Given the description of an element on the screen output the (x, y) to click on. 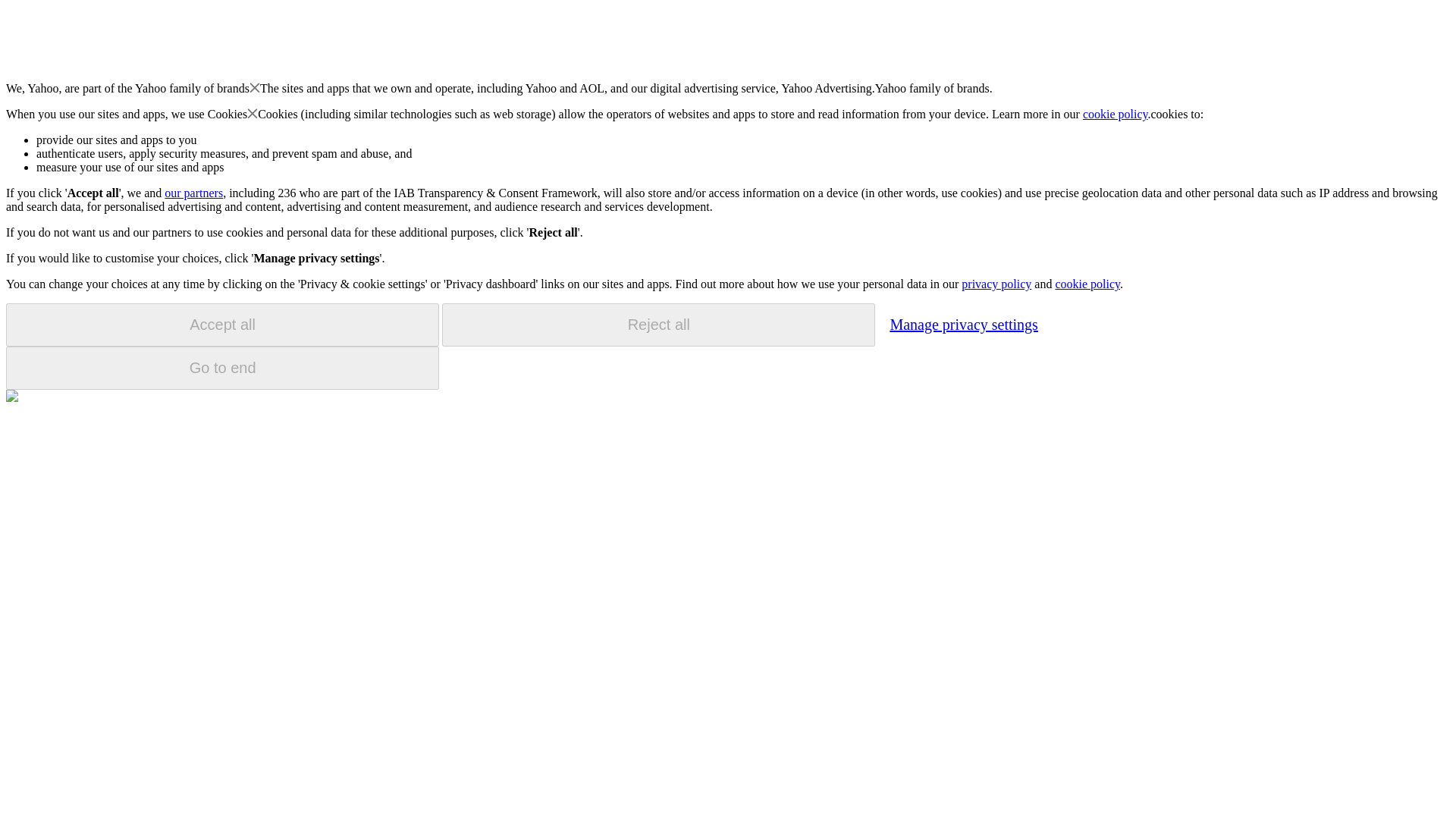
Accept all (222, 324)
Manage privacy settings (963, 323)
cookie policy (1086, 283)
privacy policy (995, 283)
Reject all (658, 324)
our partners (193, 192)
cookie policy (1115, 113)
Go to end (222, 367)
